Given the description of an element on the screen output the (x, y) to click on. 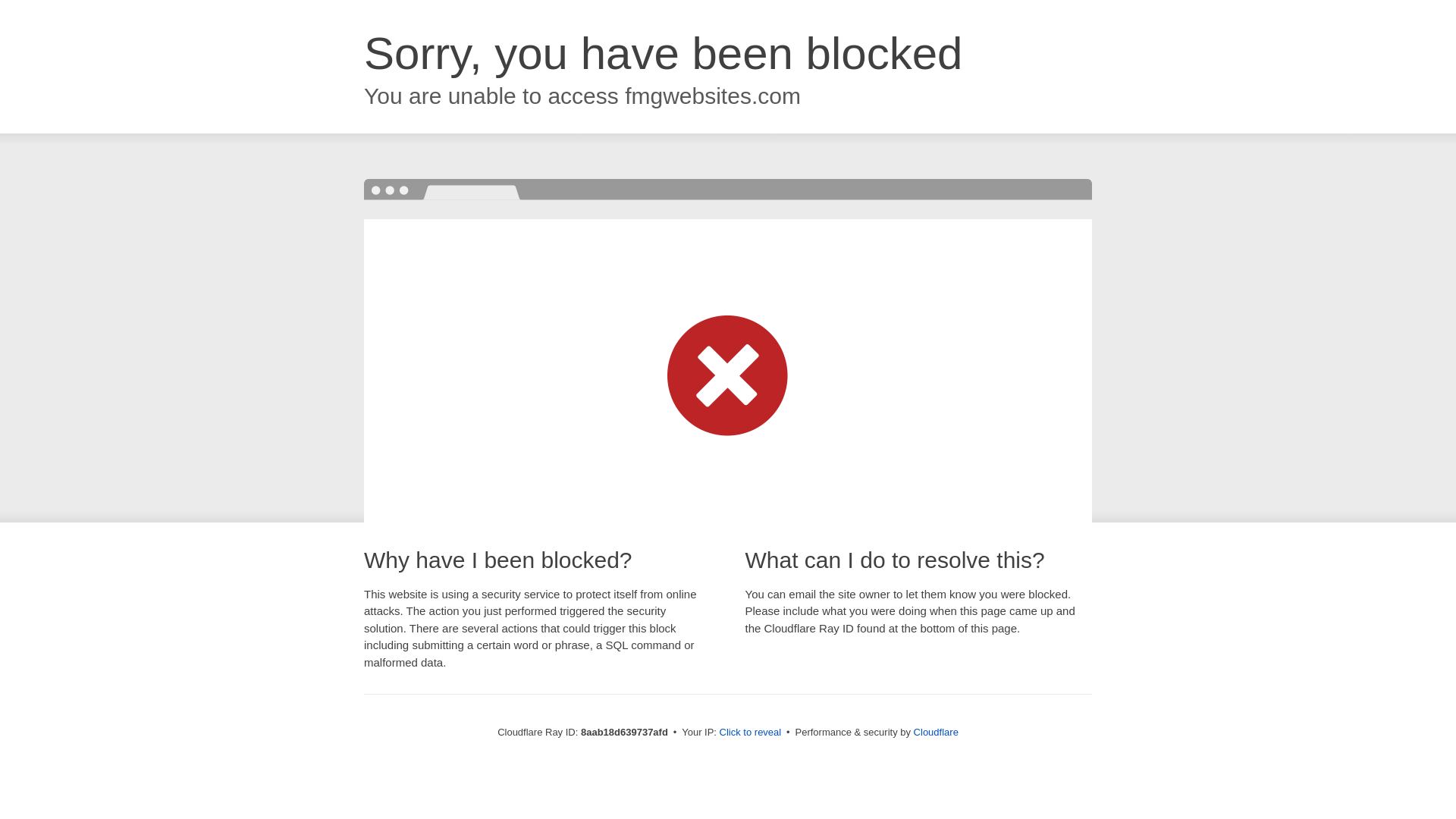
Click to reveal (750, 732)
Cloudflare (936, 731)
